Given the description of an element on the screen output the (x, y) to click on. 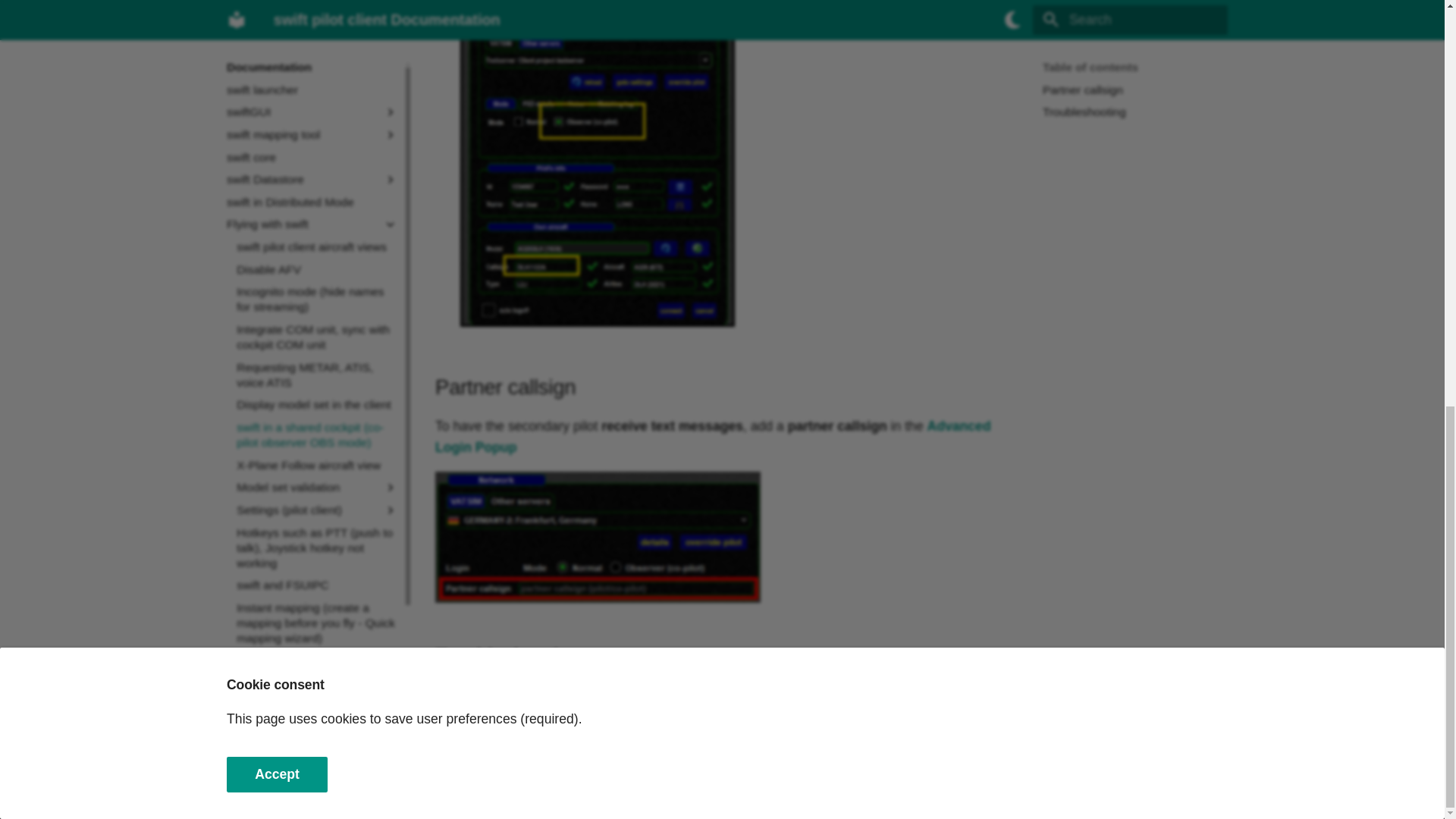
GitHub (1147, 773)
Discord (1177, 773)
Datastore (1207, 773)
